Given the description of an element on the screen output the (x, y) to click on. 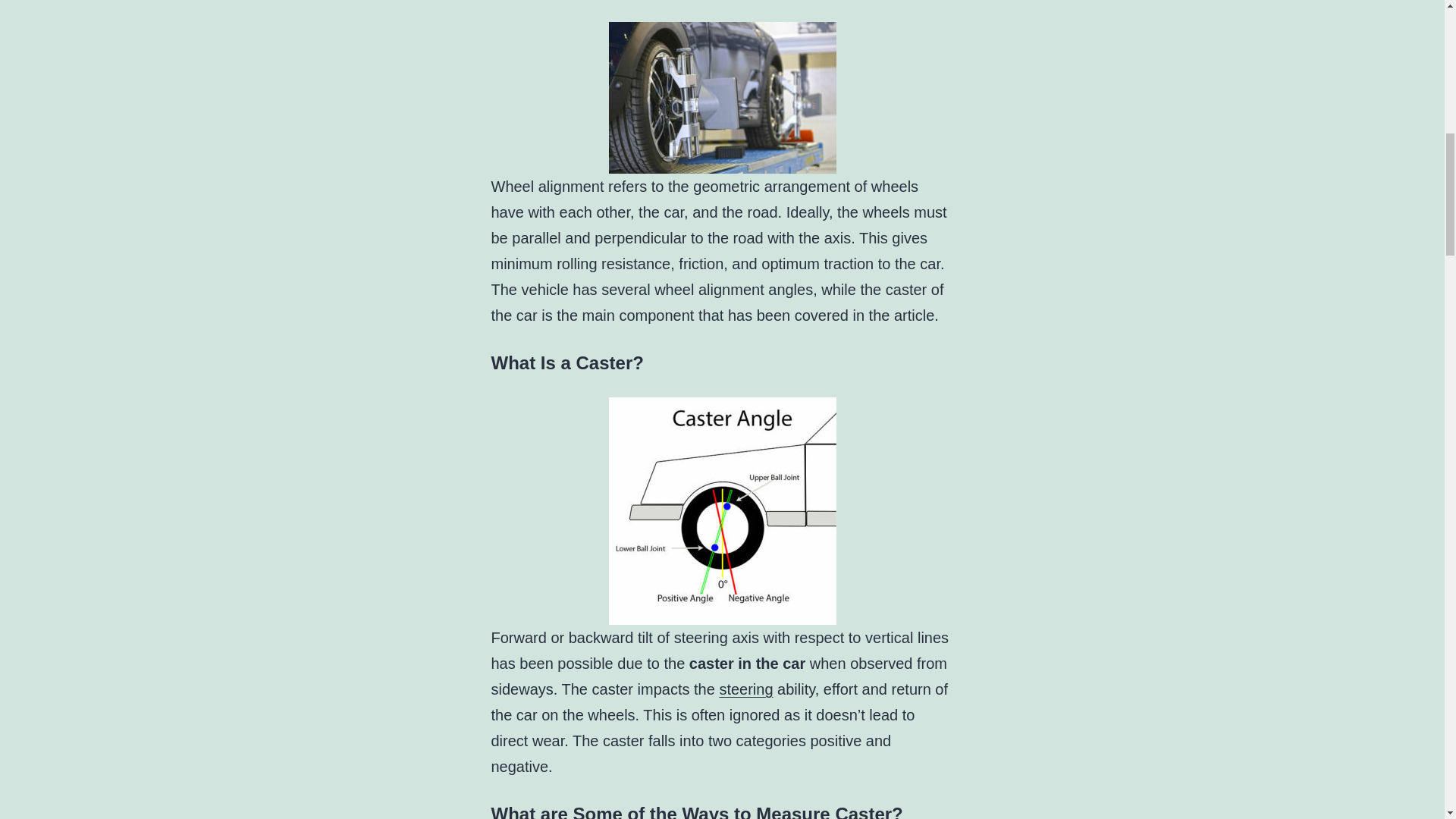
steering (746, 688)
